Given the description of an element on the screen output the (x, y) to click on. 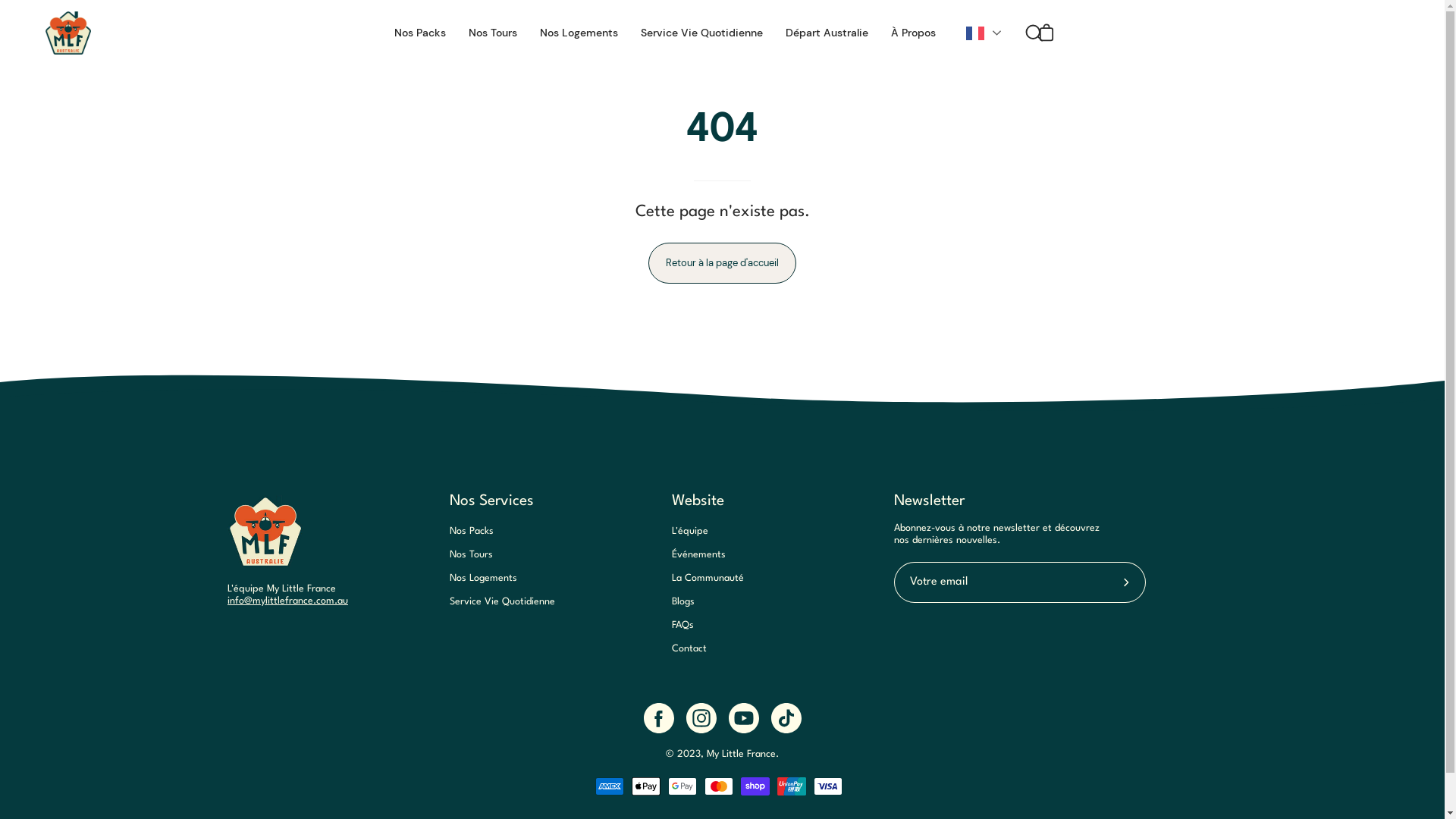
Ouvrir la barre de recherche Element type: text (1016, 33)
Nos Services Element type: text (491, 501)
Ouvrir le panier Element type: text (1046, 33)
Nos Tours Element type: text (470, 554)
Website Element type: text (697, 501)
Nos Packs Element type: text (419, 32)
Nos Logements Element type: text (483, 578)
Service Vie Quotidienne Element type: text (502, 601)
info@mylittlefrance.com.au Element type: text (287, 600)
Nos Tours Element type: text (492, 32)
Voir My Little France sur Facebook Element type: hover (658, 717)
Blogs Element type: text (682, 601)
FAQs Element type: text (682, 625)
Contact Element type: text (688, 648)
Nos Packs Element type: text (471, 531)
Voir My Little France sur Tiktok Element type: hover (785, 717)
Nos Logements Element type: text (578, 32)
Service Vie Quotidienne Element type: text (701, 32)
Voir My Little France sur Instagram Element type: hover (700, 717)
Voir My Little France sur Youtube Element type: hover (743, 717)
